Given the description of an element on the screen output the (x, y) to click on. 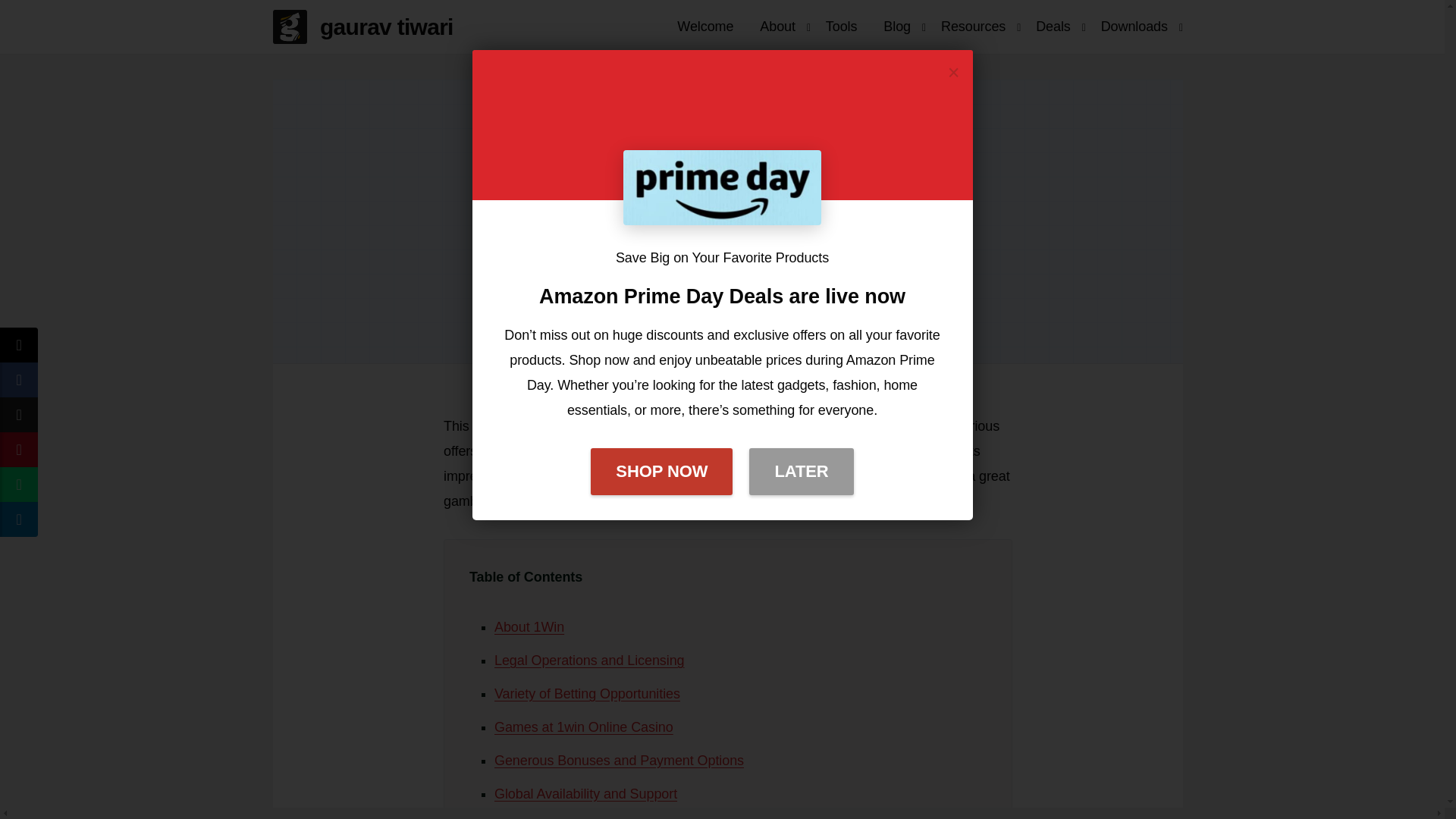
Welcome (704, 26)
Blog (896, 26)
About (777, 26)
Tools (841, 26)
gaurav tiwari (369, 26)
